Given the description of an element on the screen output the (x, y) to click on. 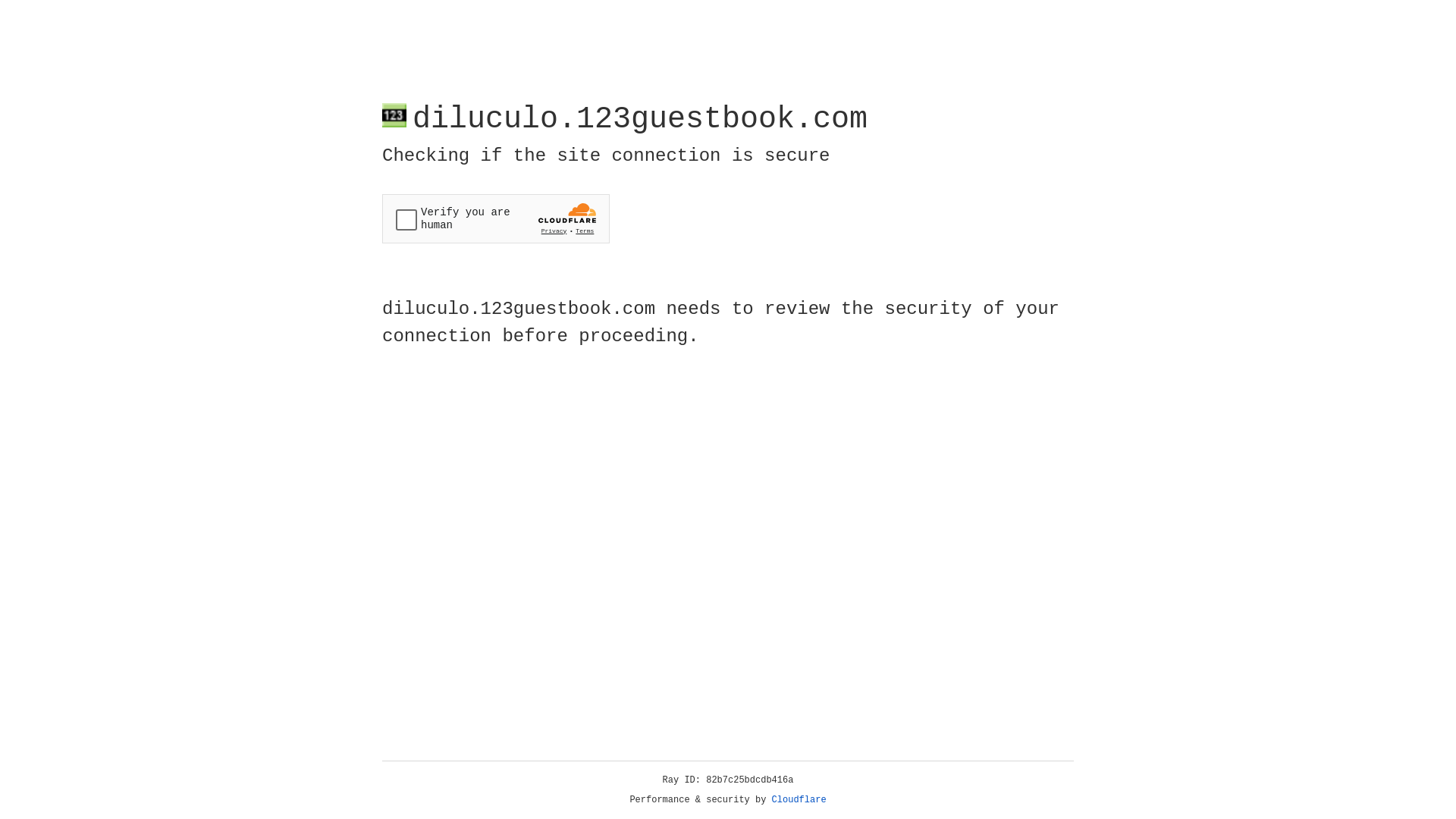
Widget containing a Cloudflare security challenge Element type: hover (495, 218)
Cloudflare Element type: text (798, 799)
